Given the description of an element on the screen output the (x, y) to click on. 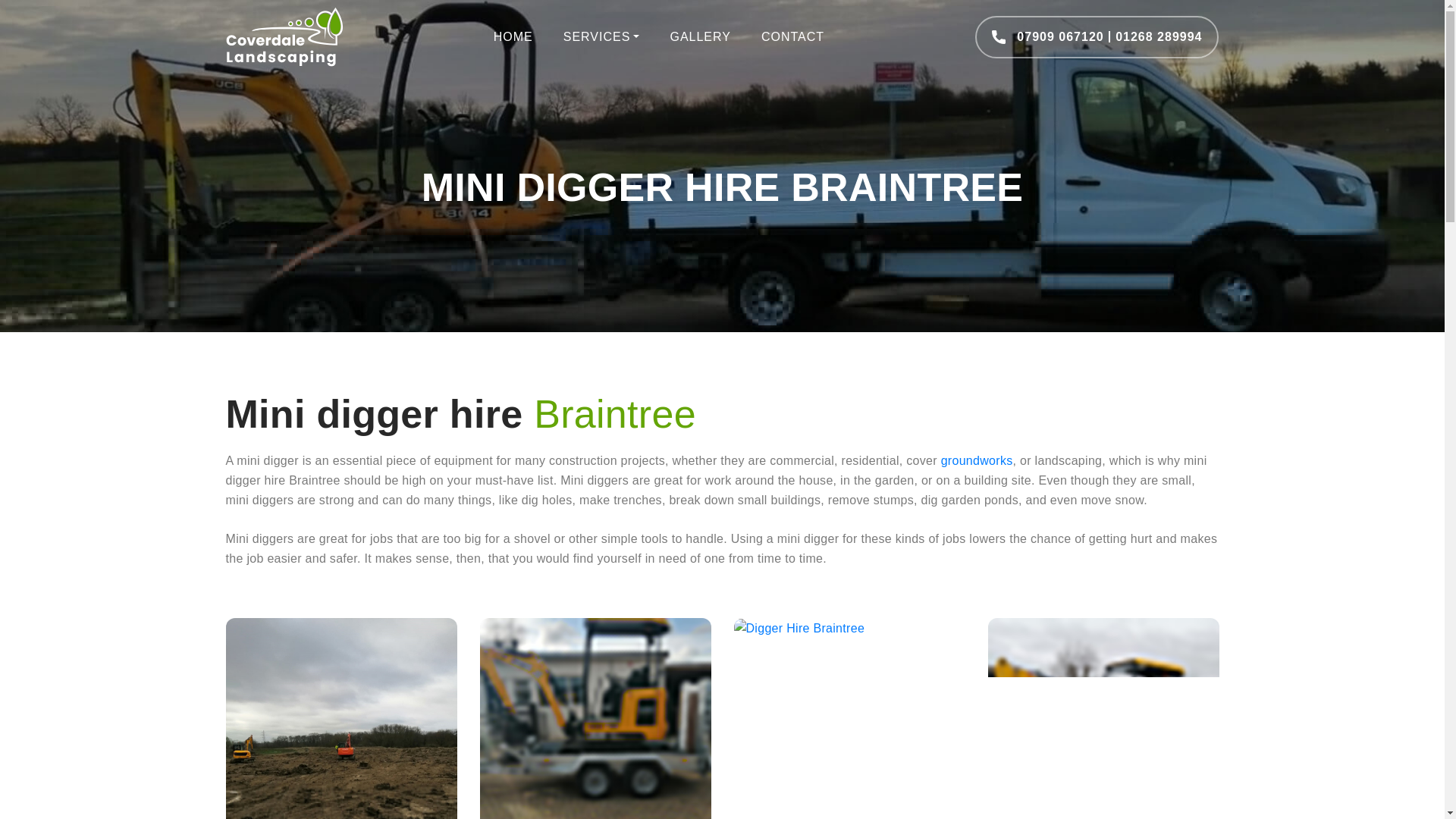
SERVICES (601, 36)
groundworks (976, 460)
HOME (513, 36)
01268 289994 (1158, 36)
07909 067120 (1059, 36)
CONTACT (792, 36)
GALLERY (699, 36)
